Given the description of an element on the screen output the (x, y) to click on. 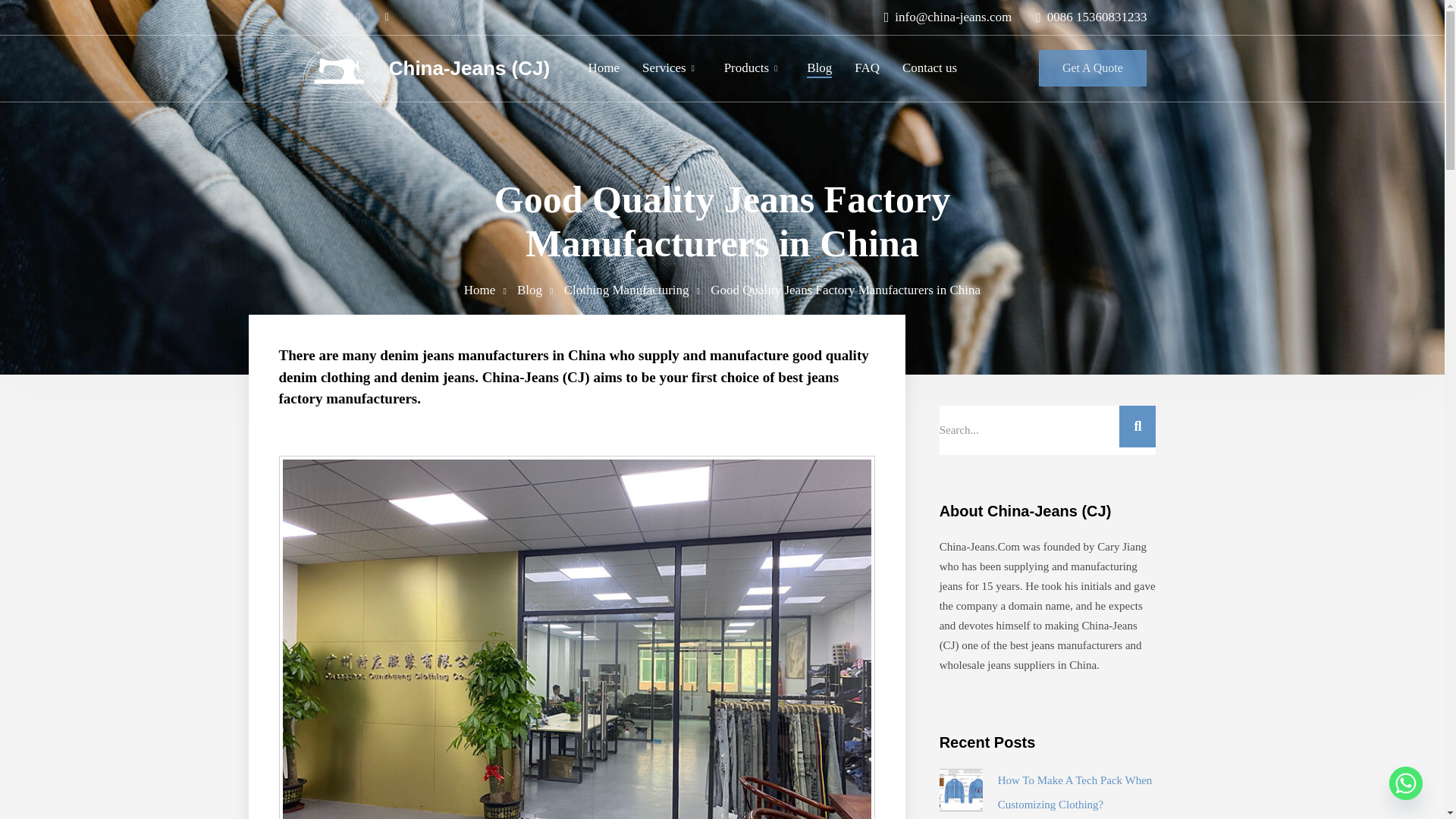
Get A Quote (1093, 67)
Home (480, 289)
Contact us (929, 67)
How To Make A Tech Pack When Customizing Clothing? (1075, 791)
0086 15360831233 (1085, 17)
Services (663, 67)
FAQ (866, 67)
Blog (528, 289)
Go to Blog. (528, 289)
Blog (818, 67)
Products (746, 67)
Home (604, 67)
Clothing Manufacturing (626, 289)
Go to the Clothing Manufacturing Category archives. (626, 289)
